Given the description of an element on the screen output the (x, y) to click on. 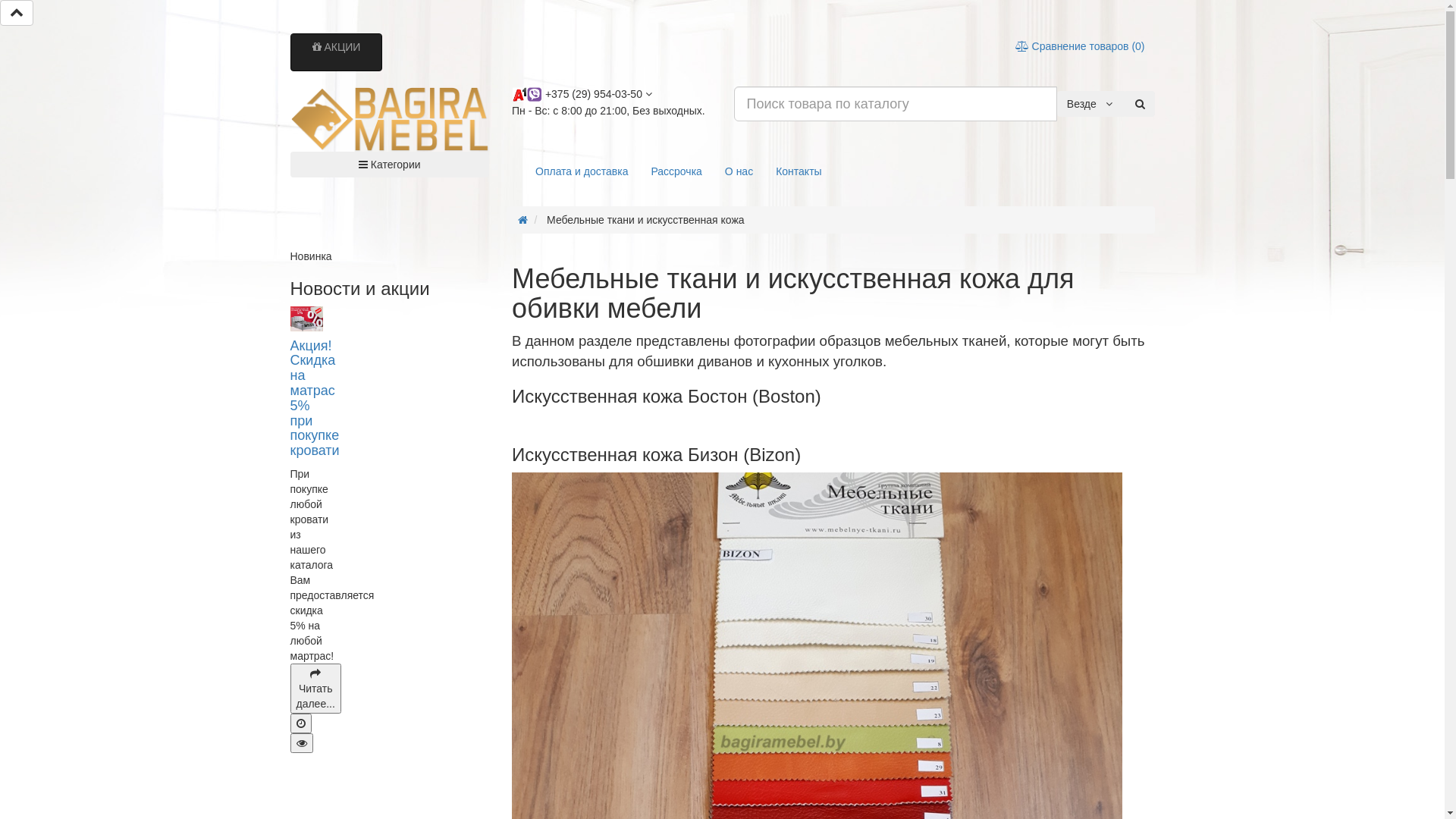
17.04.2020 01:22 Element type: hover (299, 723)
